Given the description of an element on the screen output the (x, y) to click on. 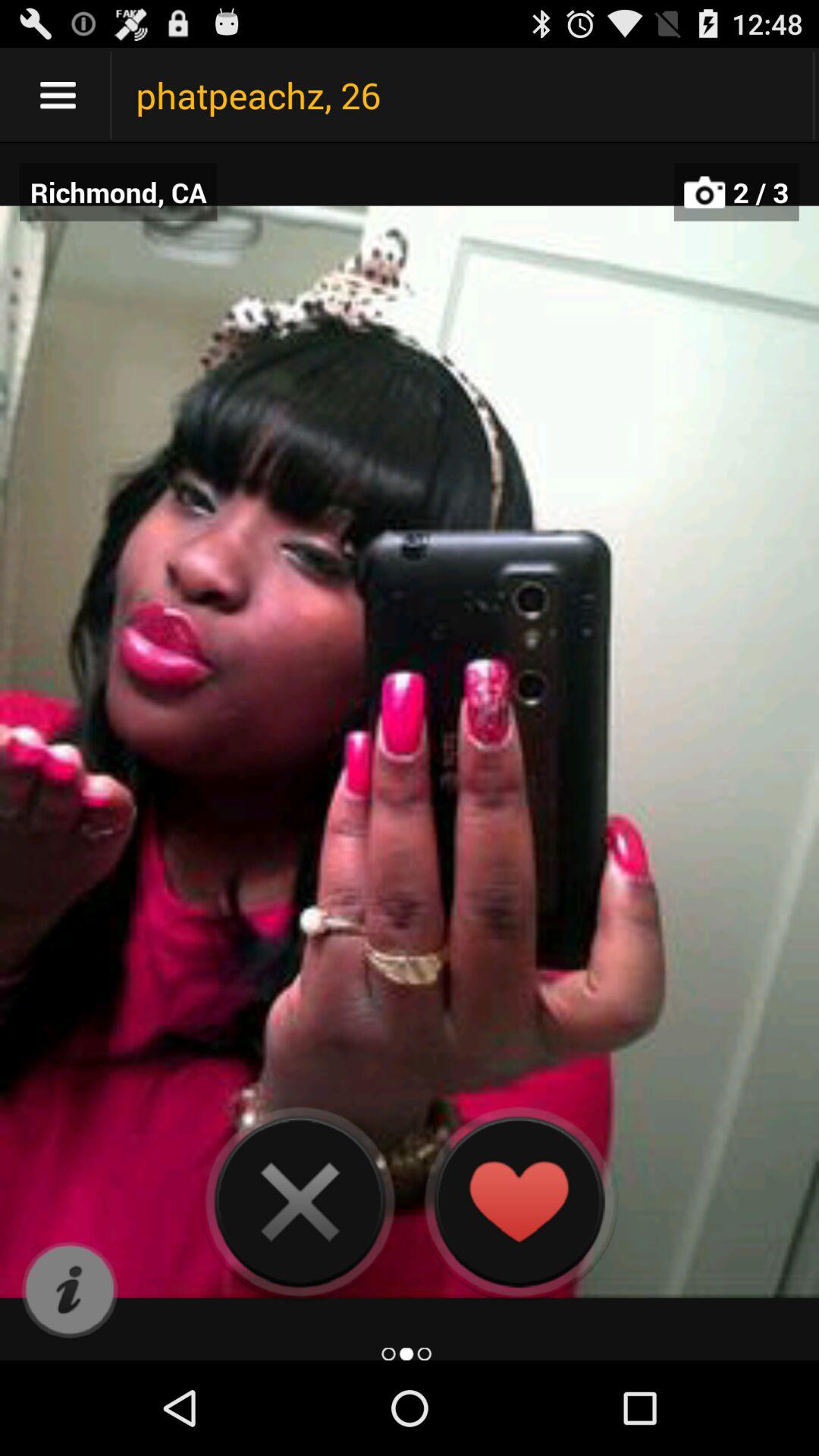
close camera (299, 1200)
